Given the description of an element on the screen output the (x, y) to click on. 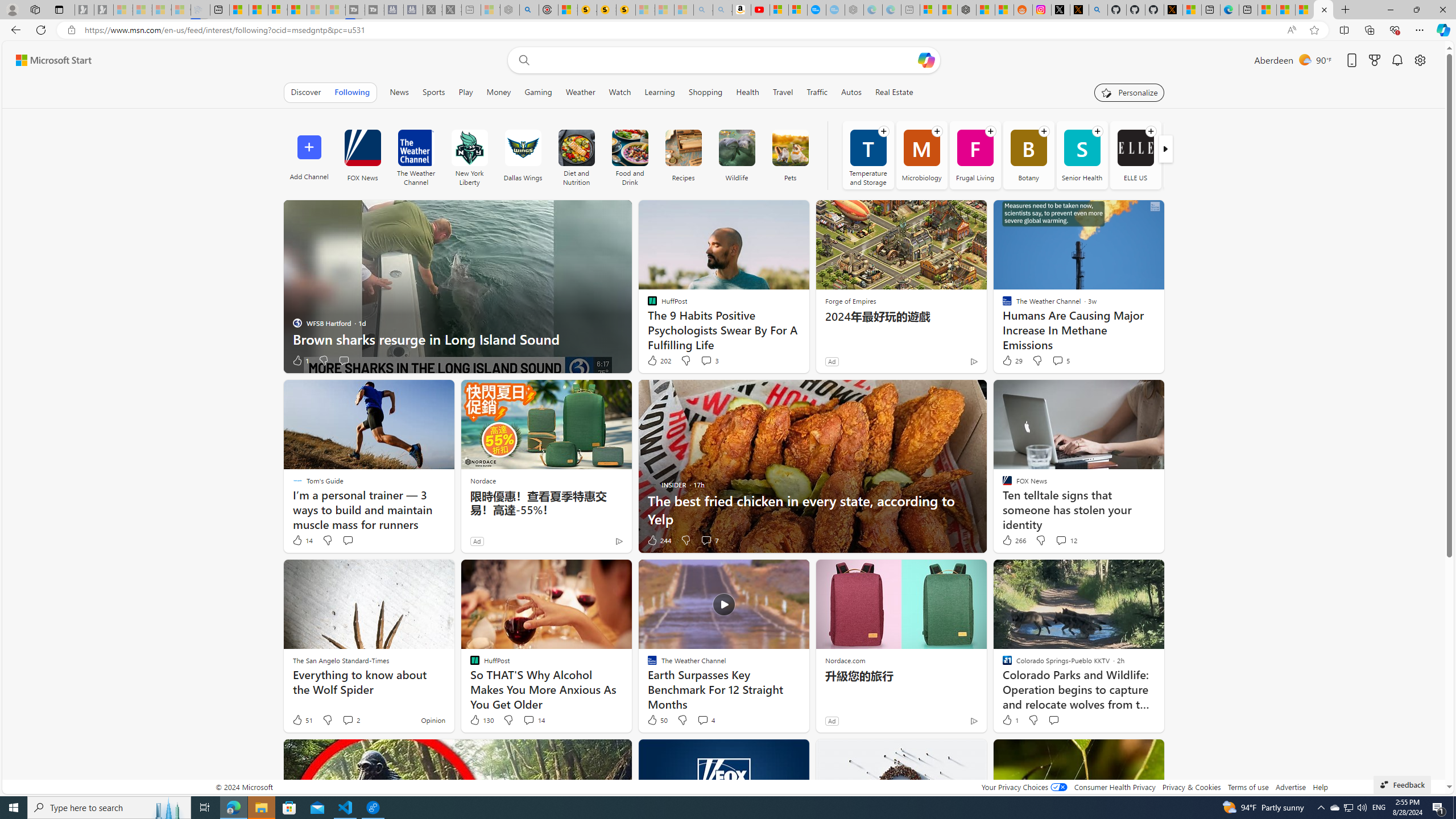
Shopping (705, 92)
X - Sleeping (450, 9)
Opinion: Op-Ed and Commentary - USA TODAY (816, 9)
News (399, 92)
Open settings (1420, 60)
Dallas Wings (522, 155)
View comments 2 Comment (350, 719)
Feedback (1402, 784)
Ad Choice (972, 720)
Nordace - Duffels (966, 9)
Advertise (1290, 786)
